Given the description of an element on the screen output the (x, y) to click on. 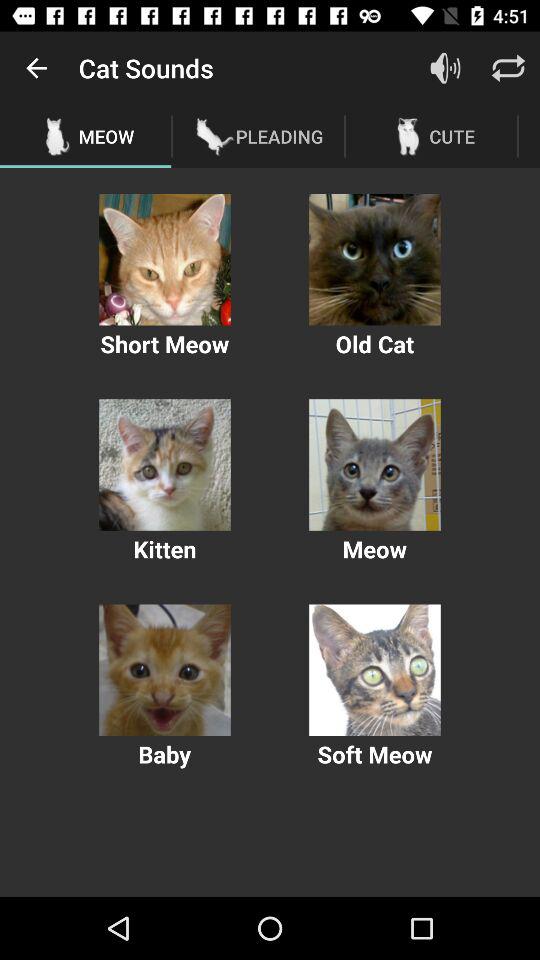
selects the meow sound (374, 464)
